Given the description of an element on the screen output the (x, y) to click on. 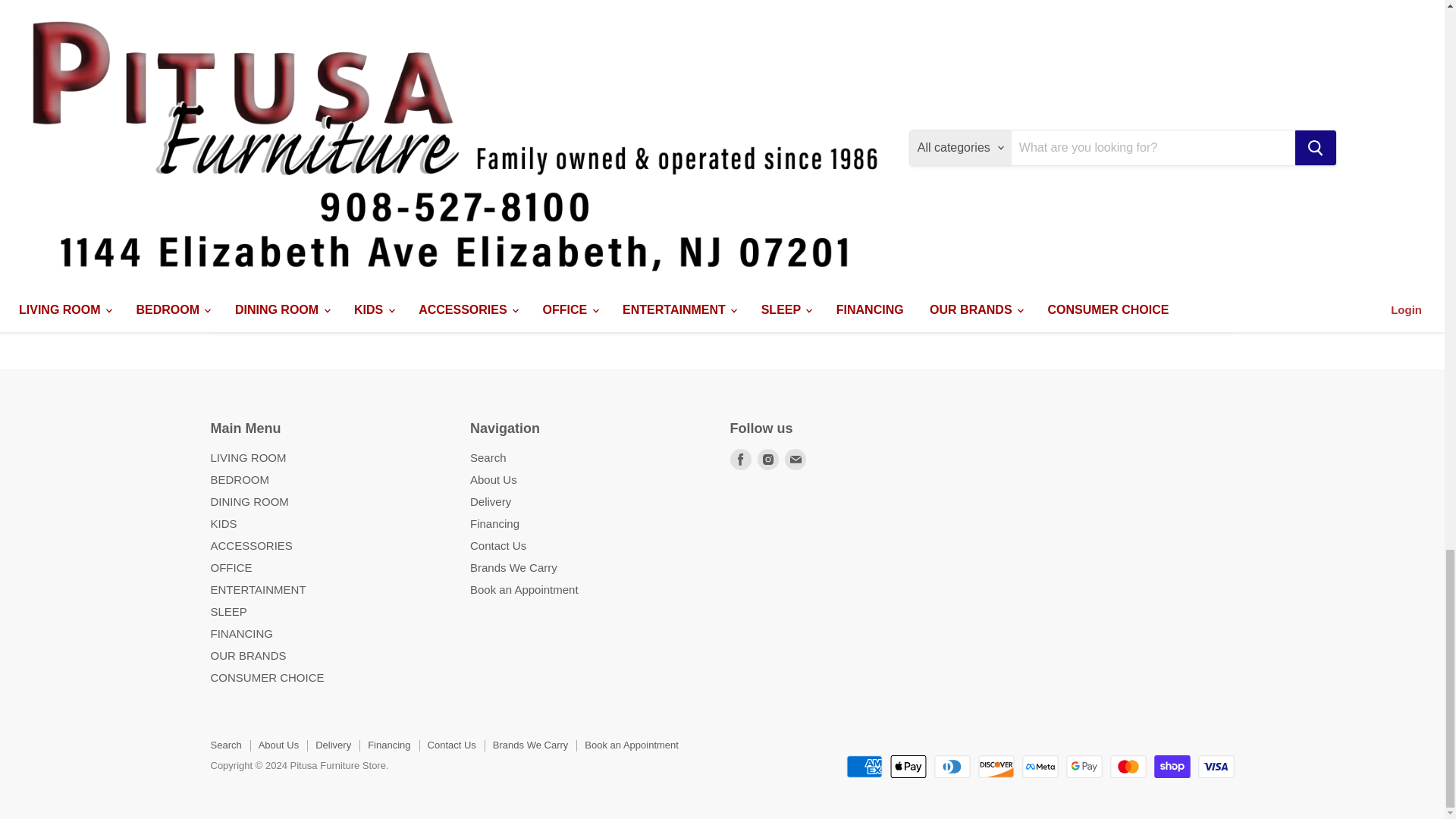
Ashley Furniture (881, 152)
E-mail (794, 459)
Facebook (740, 459)
Ashley Furniture (466, 122)
ACME East (663, 148)
Ashley Furniture (258, 225)
Ashley Furniture (1089, 224)
Instagram (767, 459)
